Given the description of an element on the screen output the (x, y) to click on. 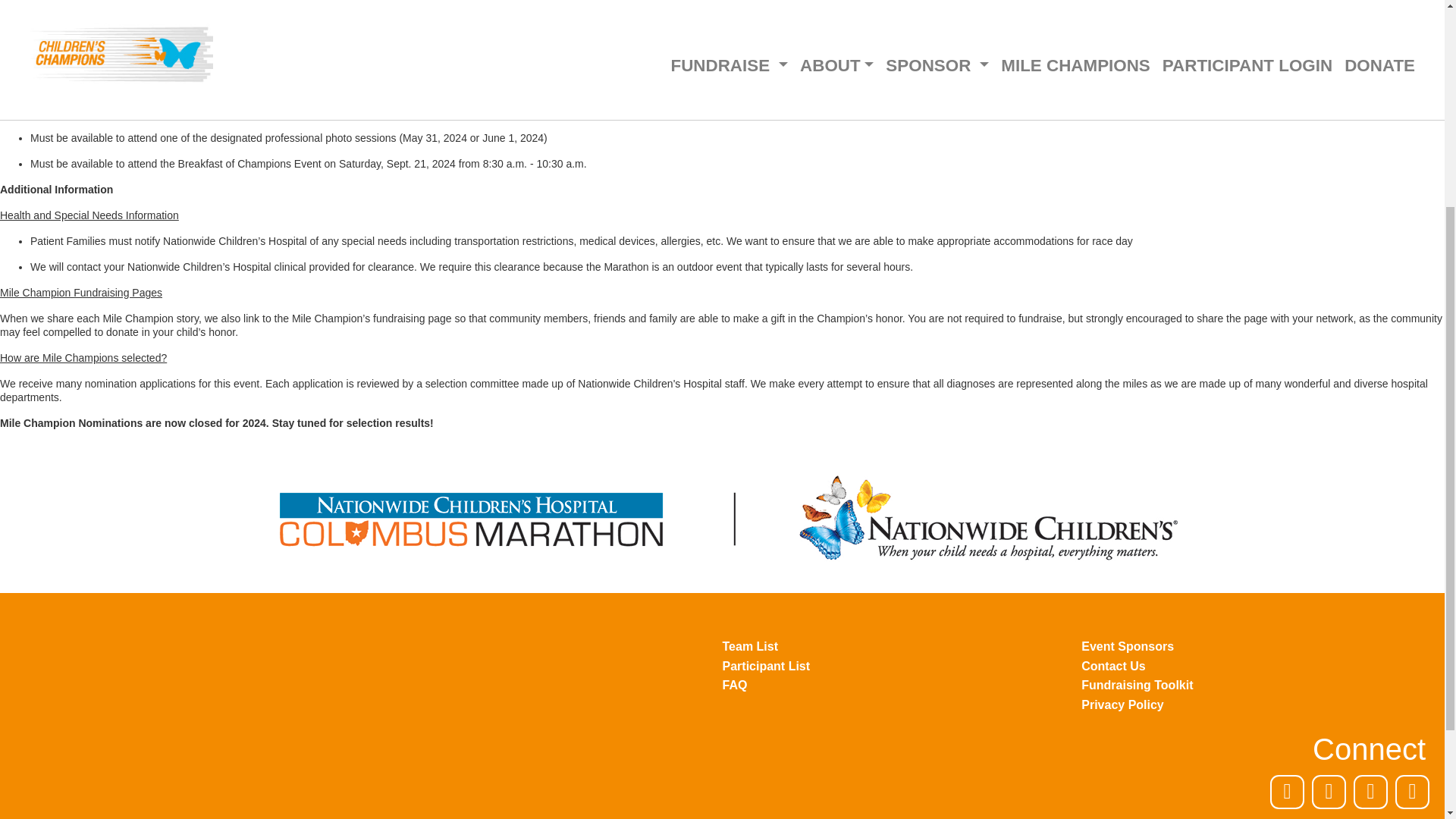
Instagram (1370, 791)
Privacy Policy (1261, 704)
Facebook (1286, 791)
Fundraising Toolkit (1261, 685)
Team List (901, 646)
Twitter (1328, 791)
YouTube (1411, 791)
Contact Us (1261, 666)
Participant List (901, 666)
FAQ (901, 685)
